Given the description of an element on the screen output the (x, y) to click on. 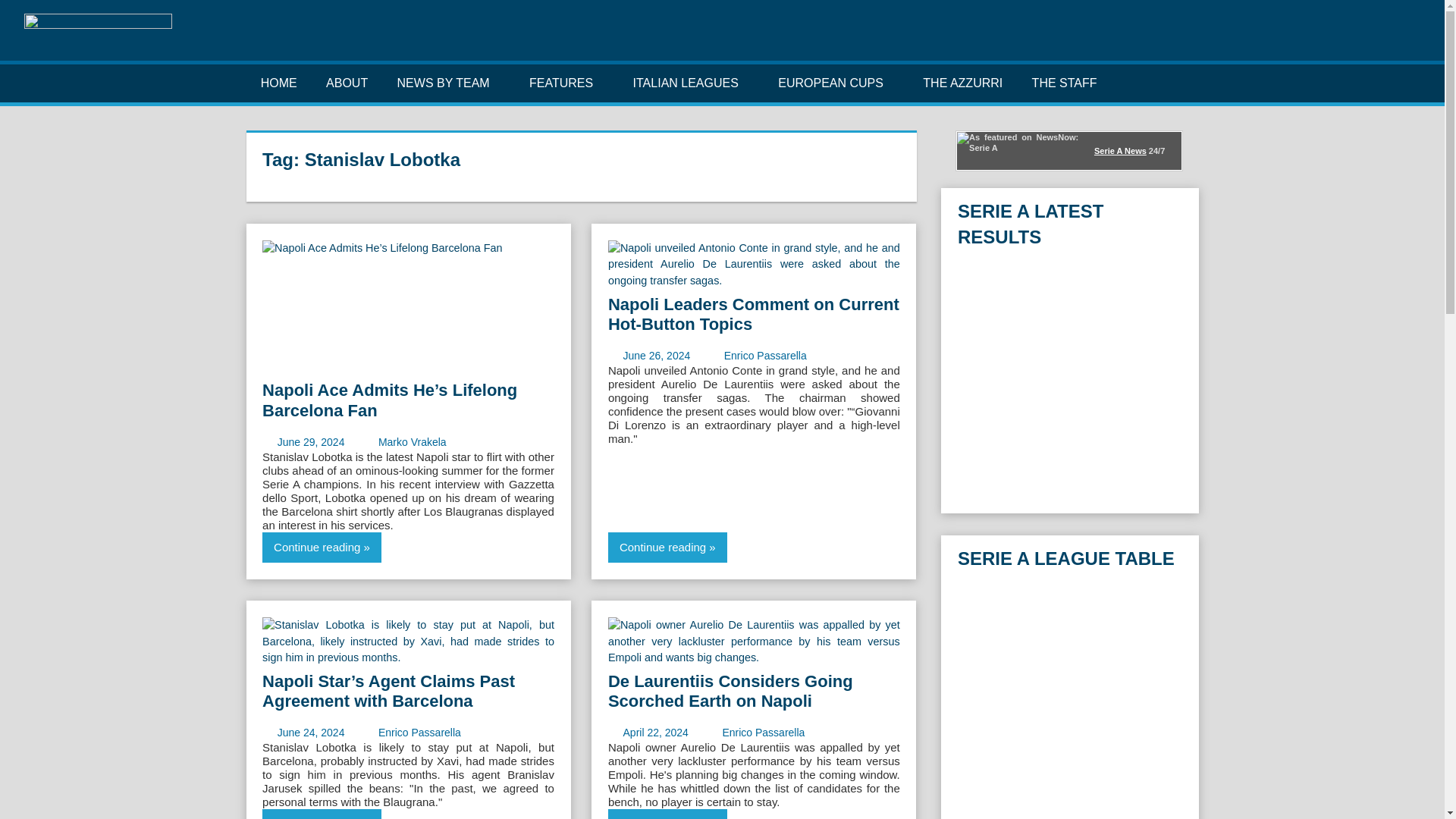
NEWS BY TEAM (447, 83)
Twitter (1339, 39)
8:00 pm (655, 732)
7:00 pm (311, 441)
View all posts by Enrico Passarella (764, 355)
Instagram (1363, 39)
Facebook (1315, 39)
FEATURES (566, 83)
View all posts by Marko Vrakela (412, 441)
HOME (278, 83)
